Given the description of an element on the screen output the (x, y) to click on. 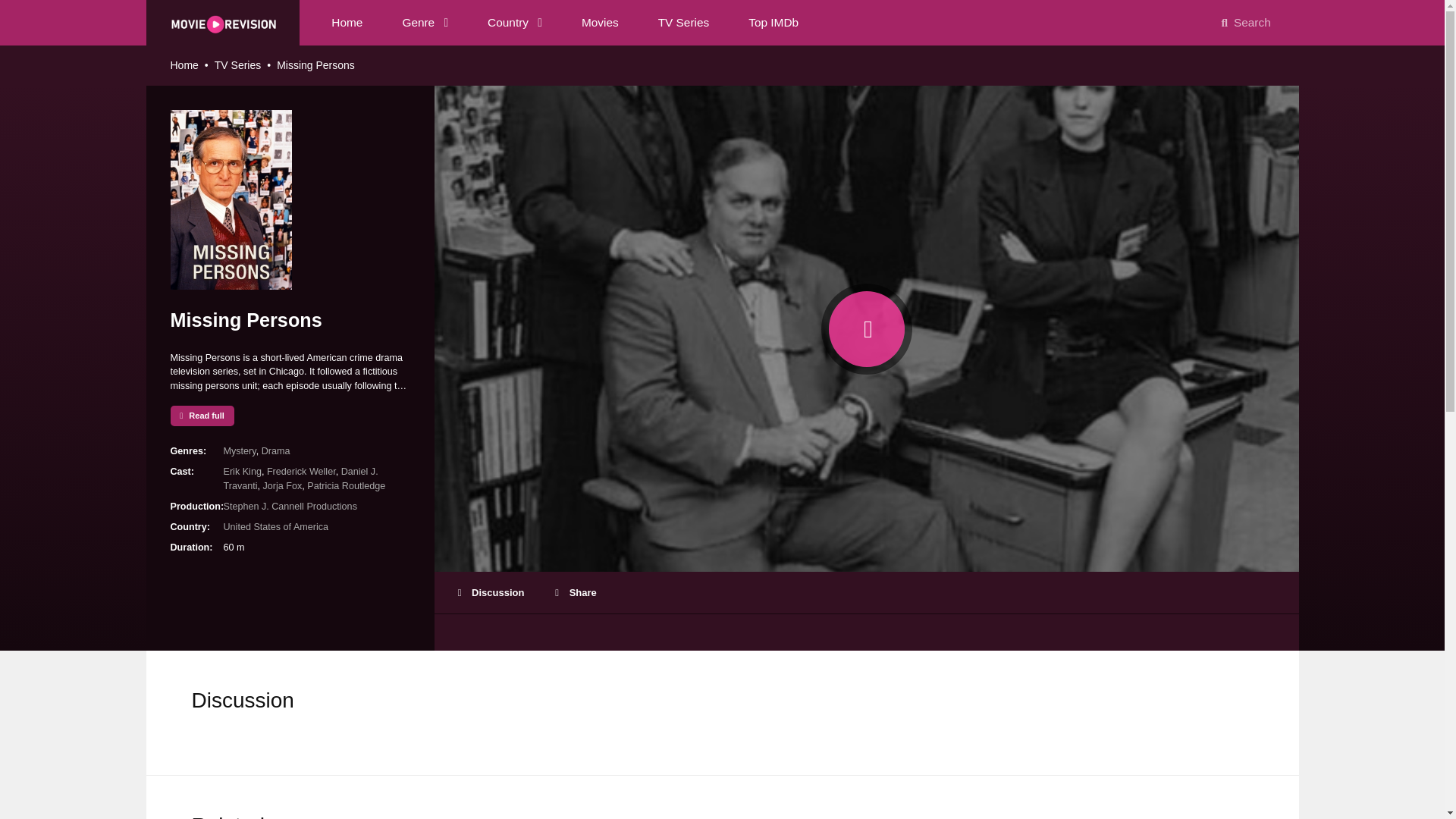
Country (515, 22)
Home (346, 22)
MovieRevision (222, 22)
Genre (424, 22)
